Given the description of an element on the screen output the (x, y) to click on. 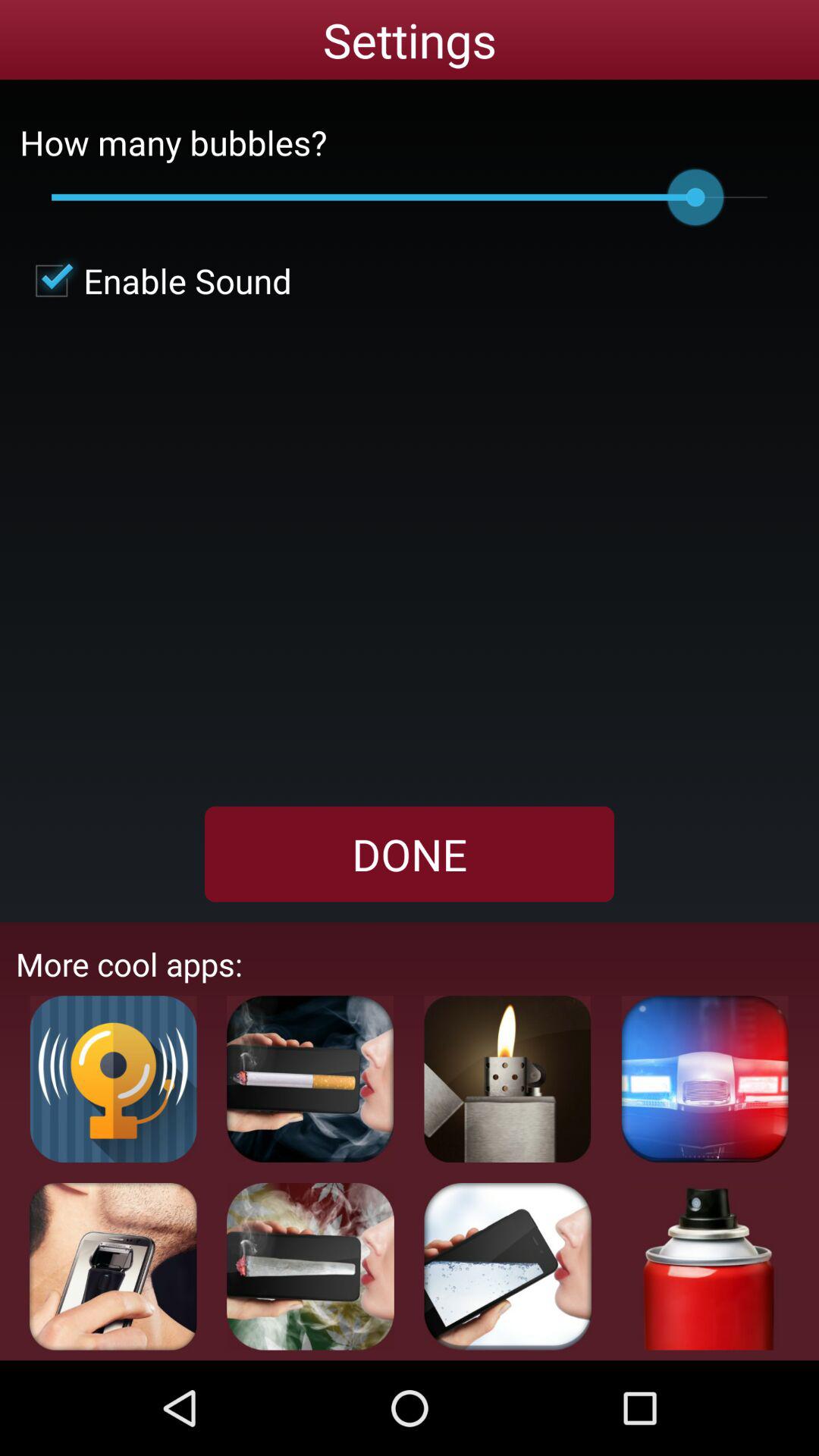
flip until enable sound checkbox (155, 280)
